Given the description of an element on the screen output the (x, y) to click on. 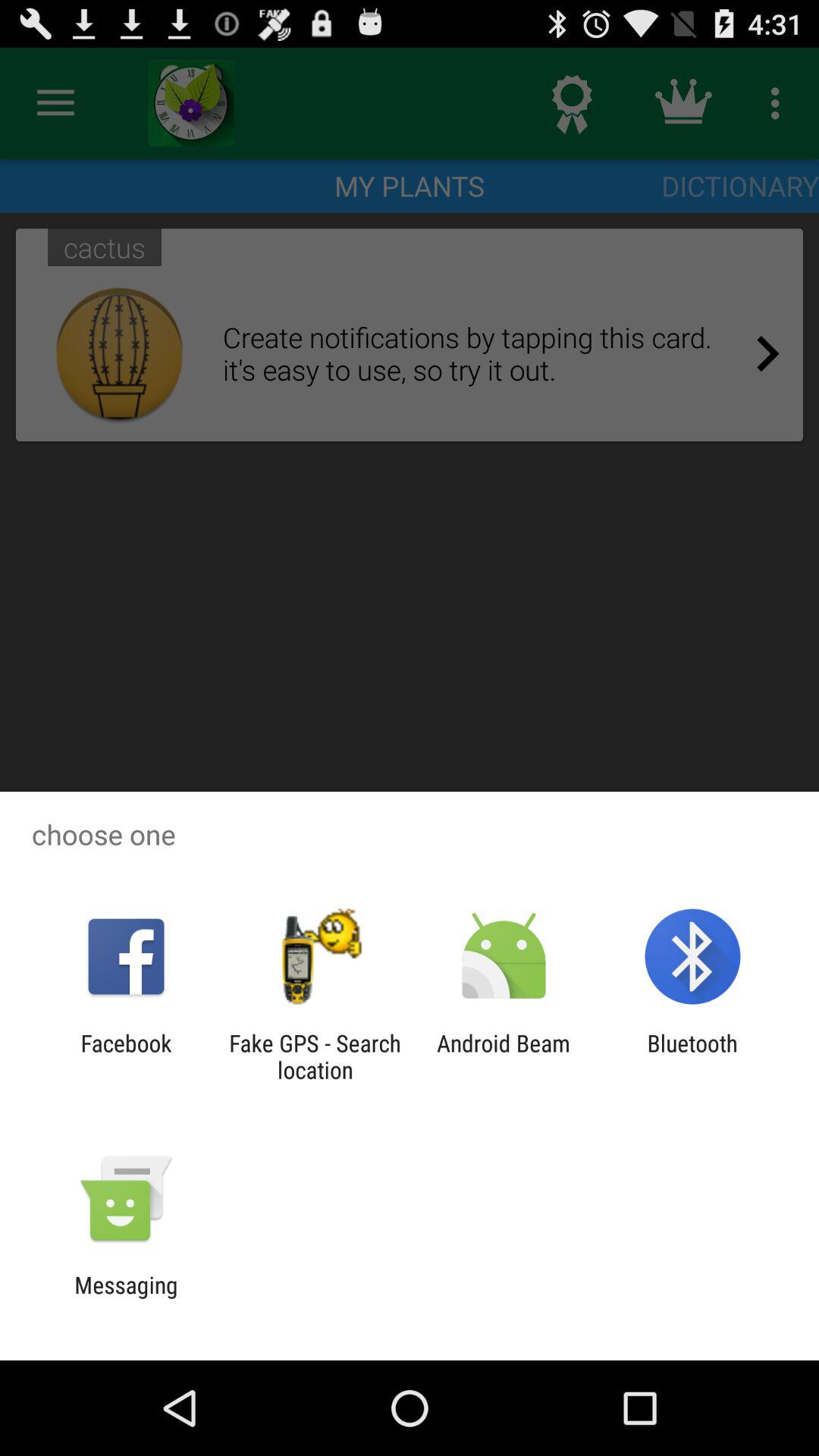
launch the app to the right of facebook (314, 1056)
